Given the description of an element on the screen output the (x, y) to click on. 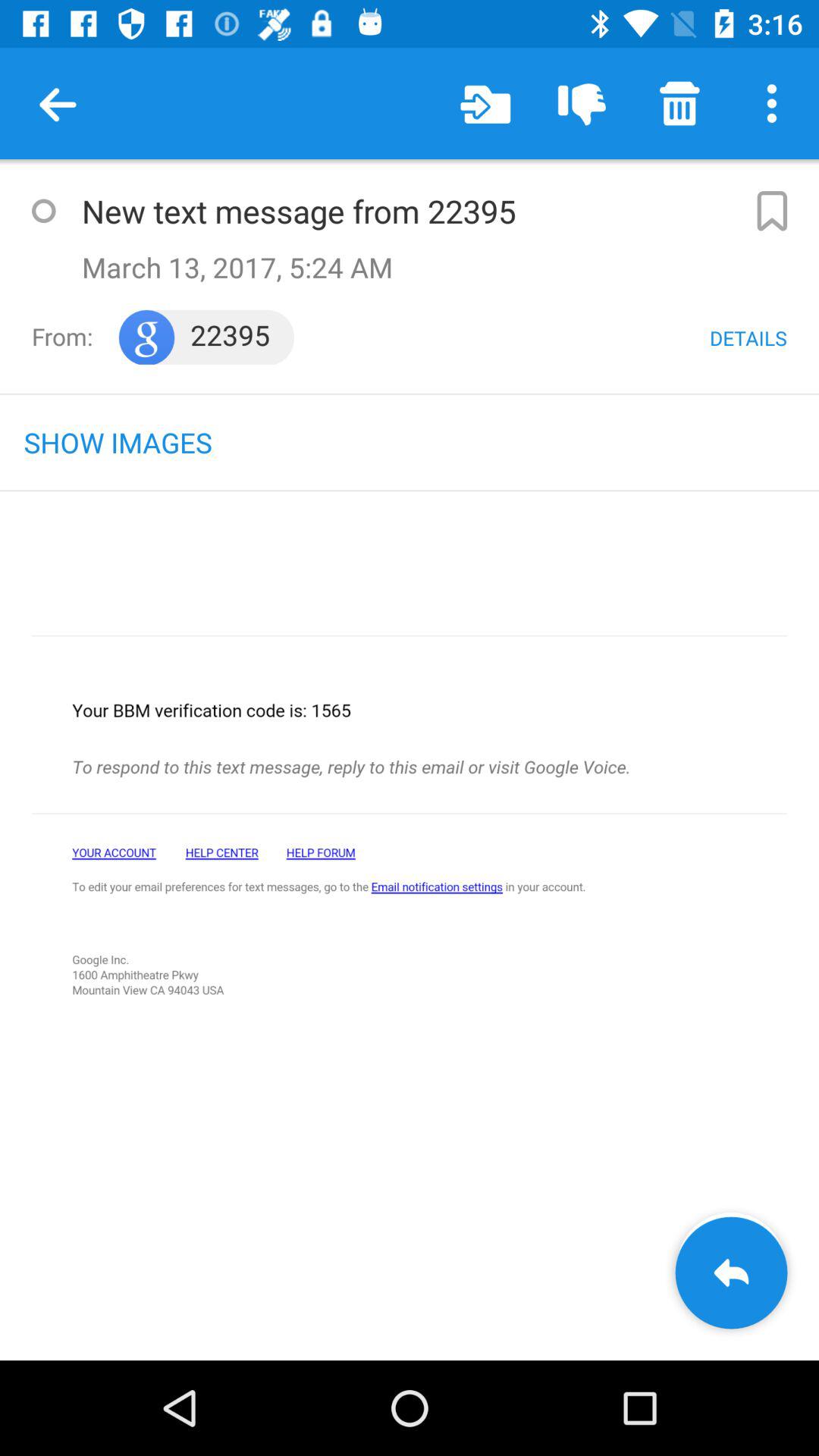
tybe the meaage (43, 210)
